Given the description of an element on the screen output the (x, y) to click on. 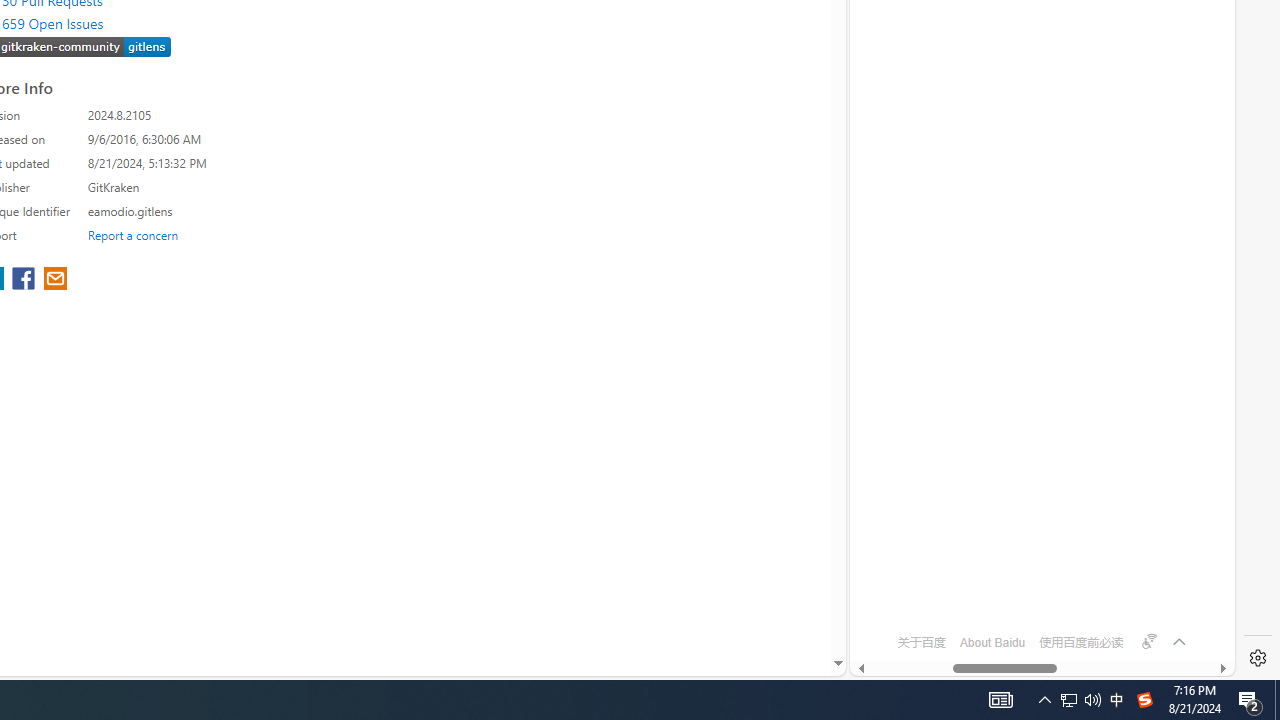
Report a concern (133, 234)
Actions for this site (1149, 184)
About Baidu (992, 642)
share extension on facebook (26, 280)
Global web icon (888, 587)
OFTV - Enjoy videos from your favorite OF creators! (1034, 604)
